Given the description of an element on the screen output the (x, y) to click on. 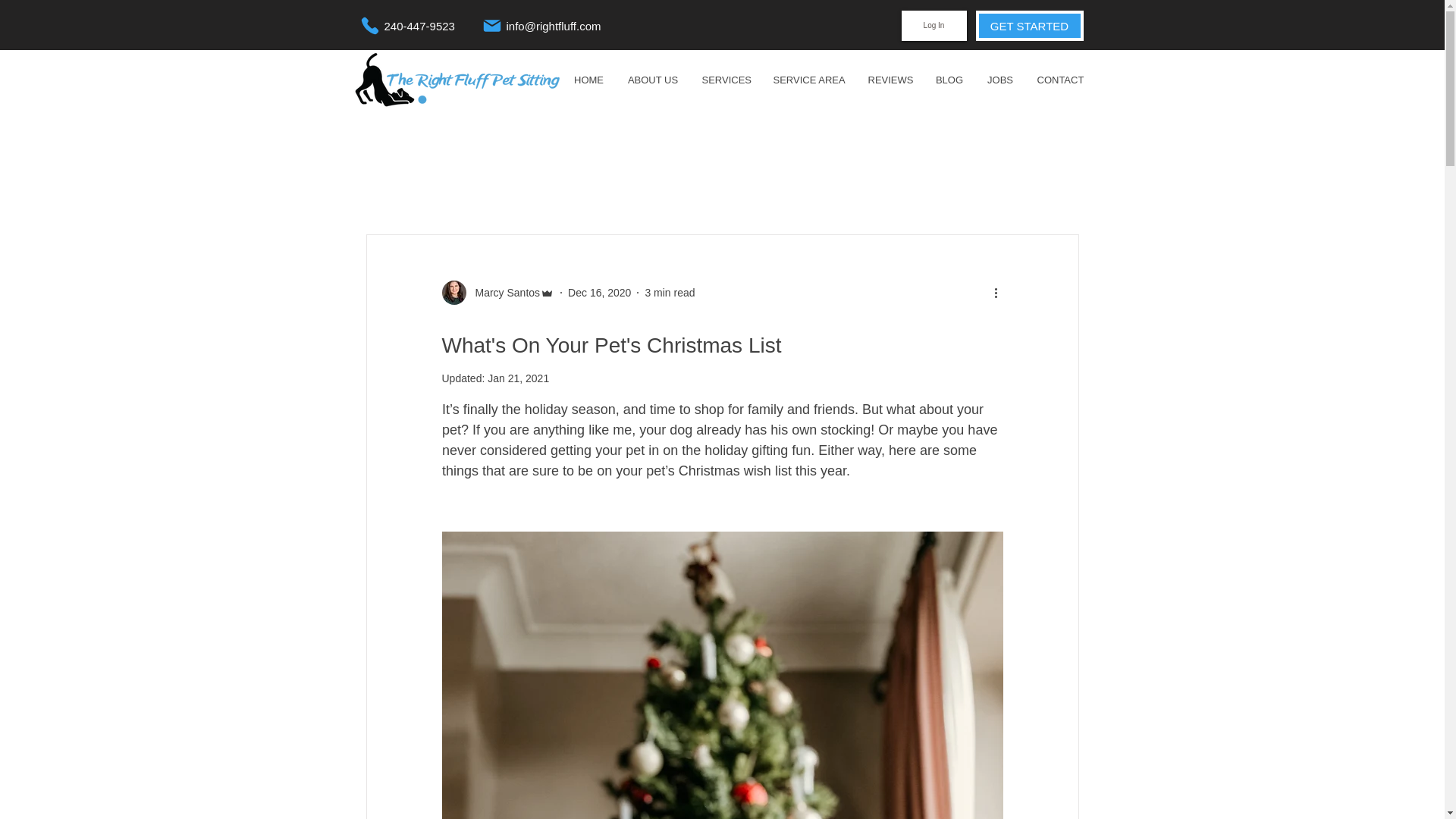
3 min read (669, 292)
SERVICE AREA (808, 80)
HOME (588, 80)
BLOG (949, 80)
REVIEWS (889, 80)
CONTACT (1059, 80)
Jan 21, 2021 (517, 378)
Marcy Santos (502, 293)
GET STARTED (1029, 25)
240-447-9523 (421, 25)
